Given the description of an element on the screen output the (x, y) to click on. 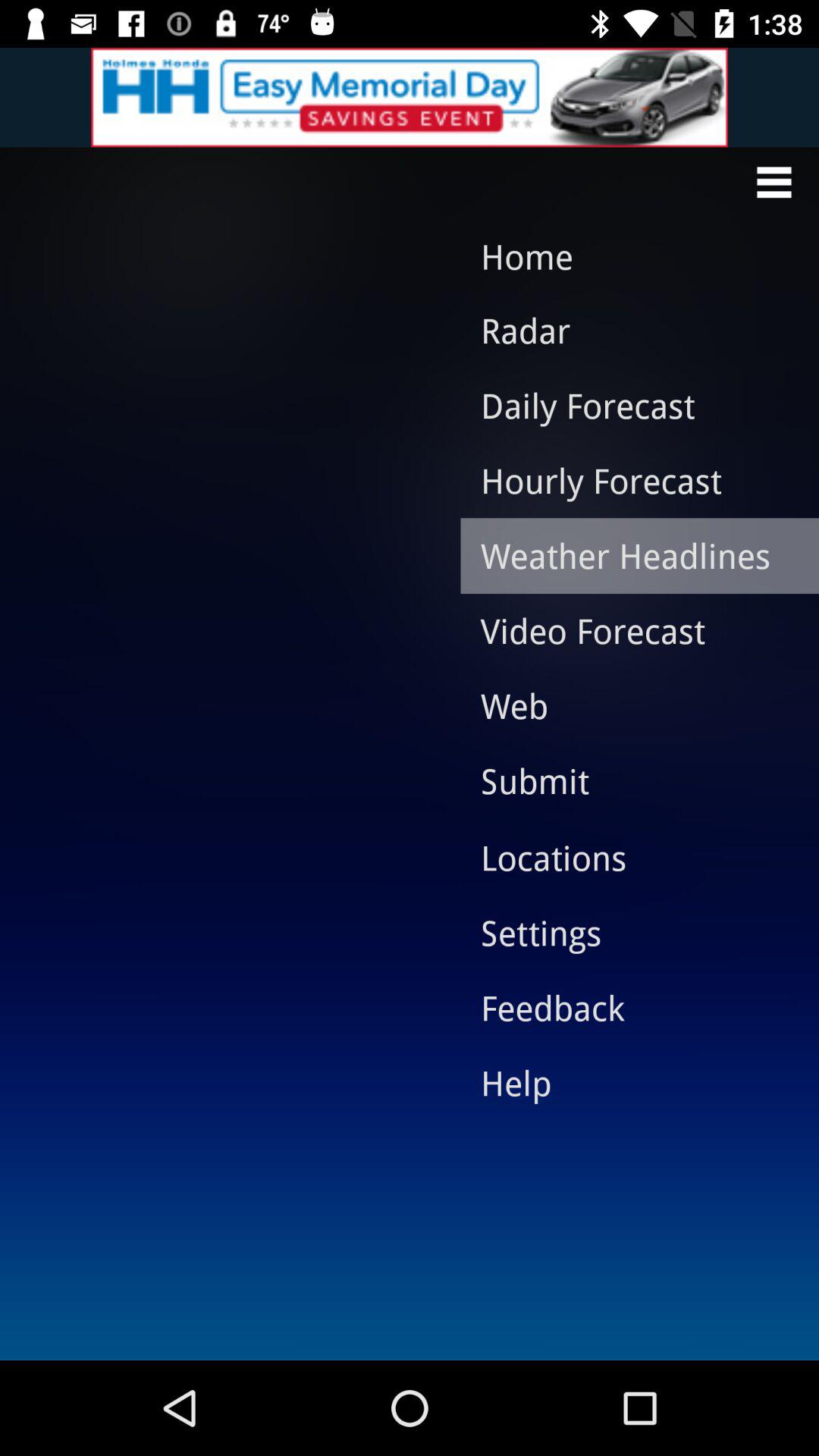
launch home (624, 256)
